Given the description of an element on the screen output the (x, y) to click on. 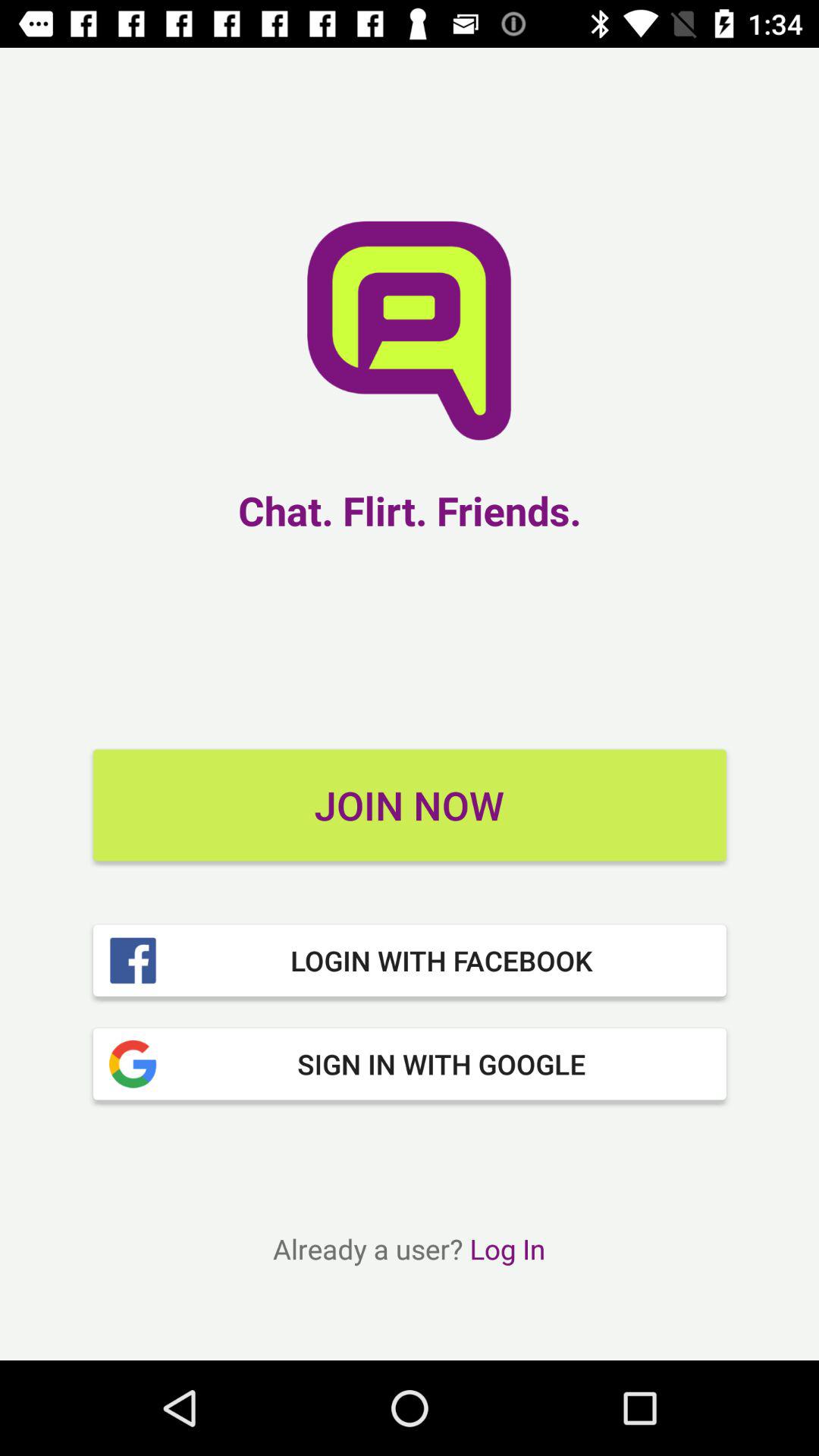
jump until the join now item (409, 805)
